Given the description of an element on the screen output the (x, y) to click on. 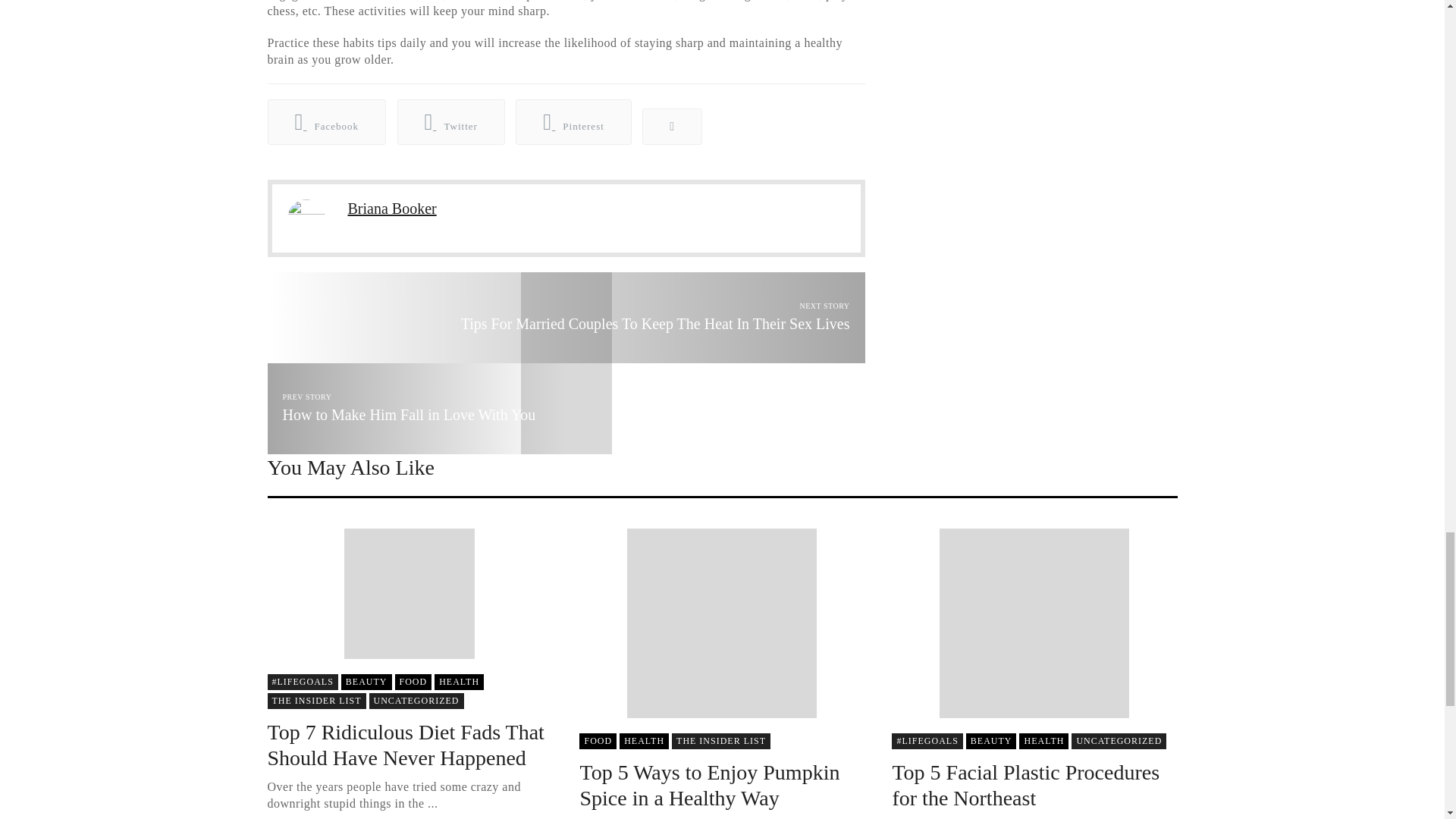
View all posts in 1 (415, 700)
View all posts in 143 (301, 682)
View all posts in 3034 (315, 700)
View all posts in 3040 (413, 682)
View all posts in 3040 (597, 741)
View all posts in 3043 (458, 682)
View all posts in 3027 (365, 682)
